Given the description of an element on the screen output the (x, y) to click on. 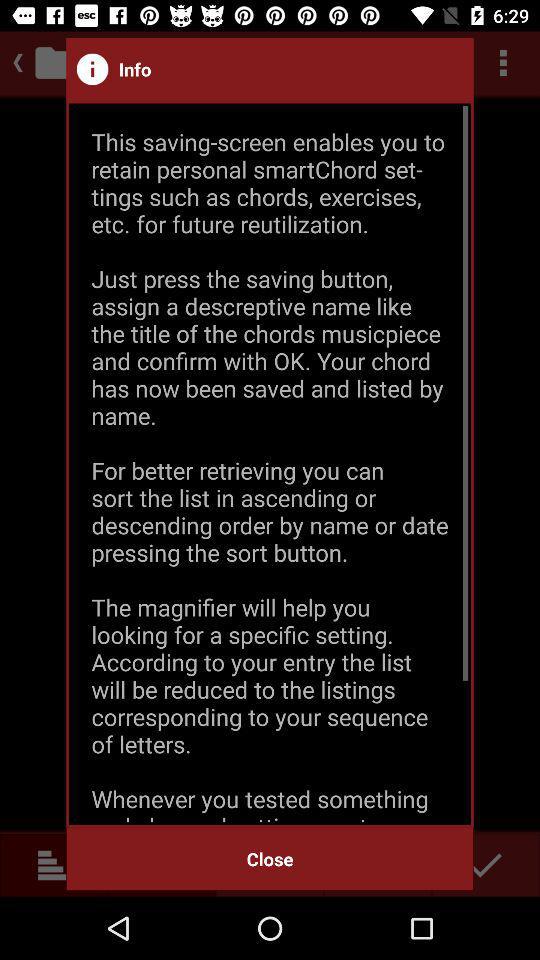
open this saving screen item (269, 464)
